Given the description of an element on the screen output the (x, y) to click on. 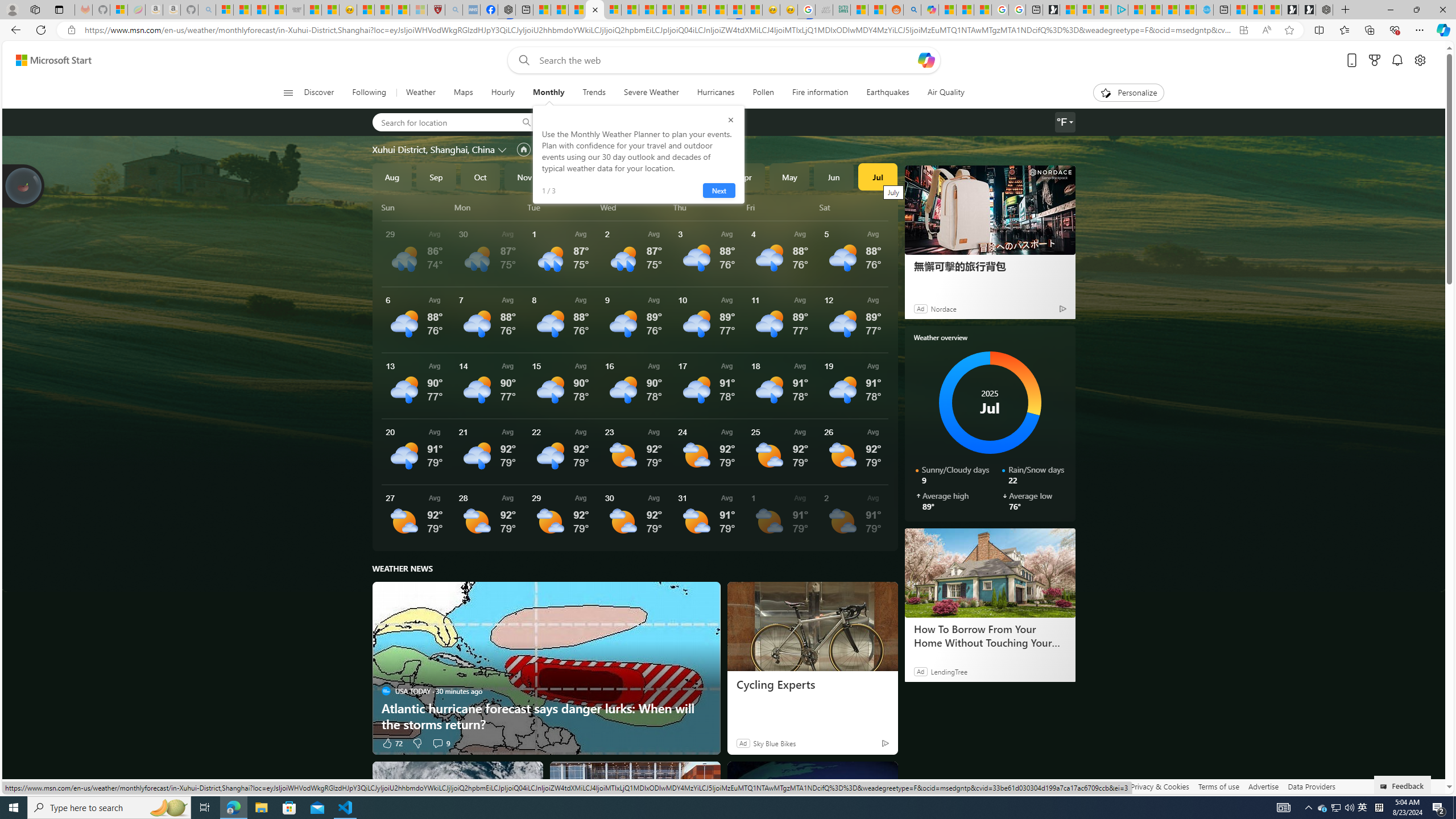
Privacy & Cookies (1160, 786)
Advertise (1263, 785)
Xuhui District, Shanghai, China (433, 149)
Nordace - Nordace Siena Is Not An Ordinary Backpack (1324, 9)
